Given the description of an element on the screen output the (x, y) to click on. 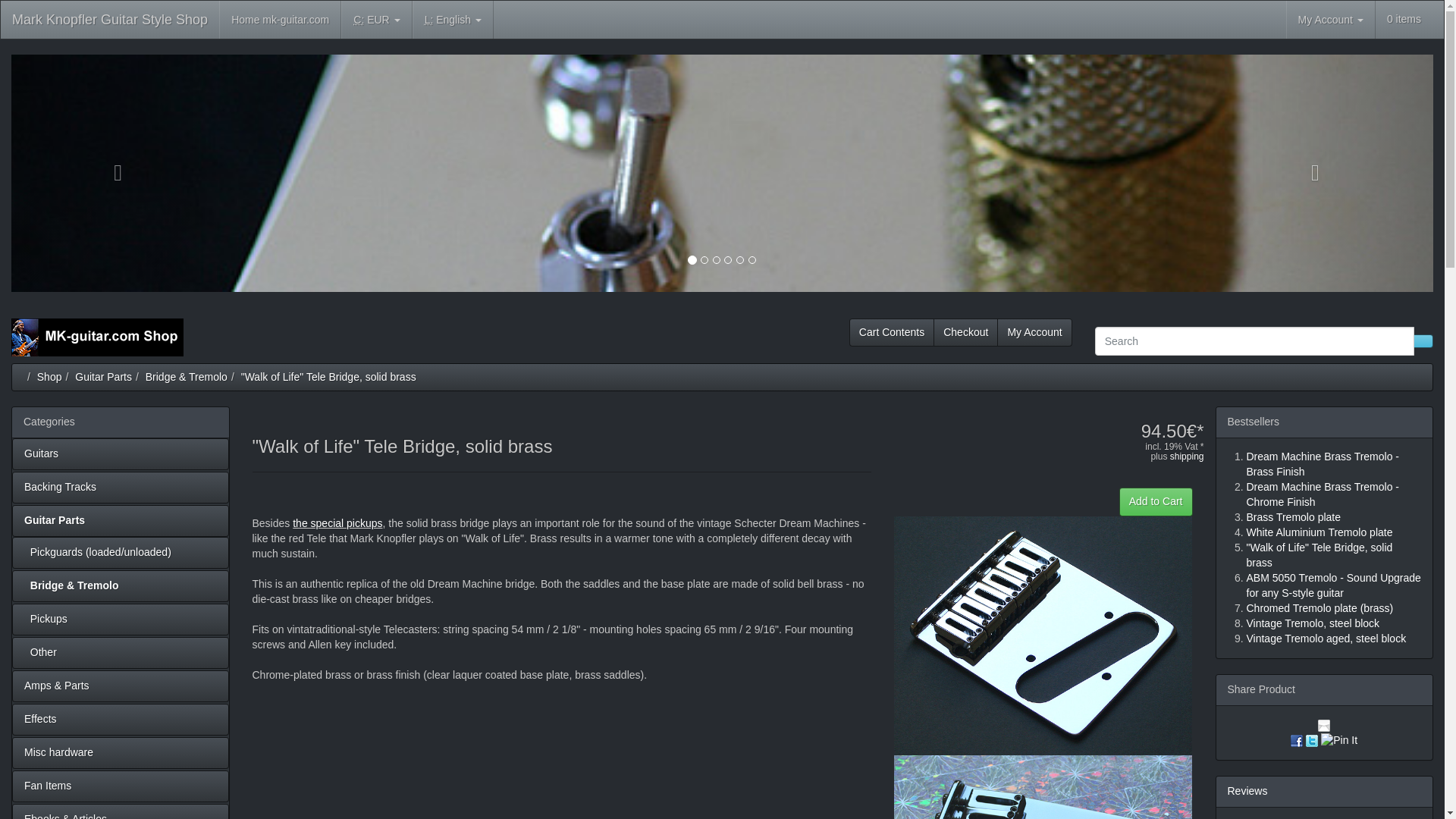
Add to Cart (1155, 501)
My Account (1330, 19)
the special pickups (336, 522)
C: EUR (376, 19)
Mark Knopfler Guitar Style Shop (97, 337)
Shop (49, 376)
L: English (452, 19)
Guitar Parts (103, 376)
Previous (117, 172)
Home mk-guitar.com (279, 19)
